Given the description of an element on the screen output the (x, y) to click on. 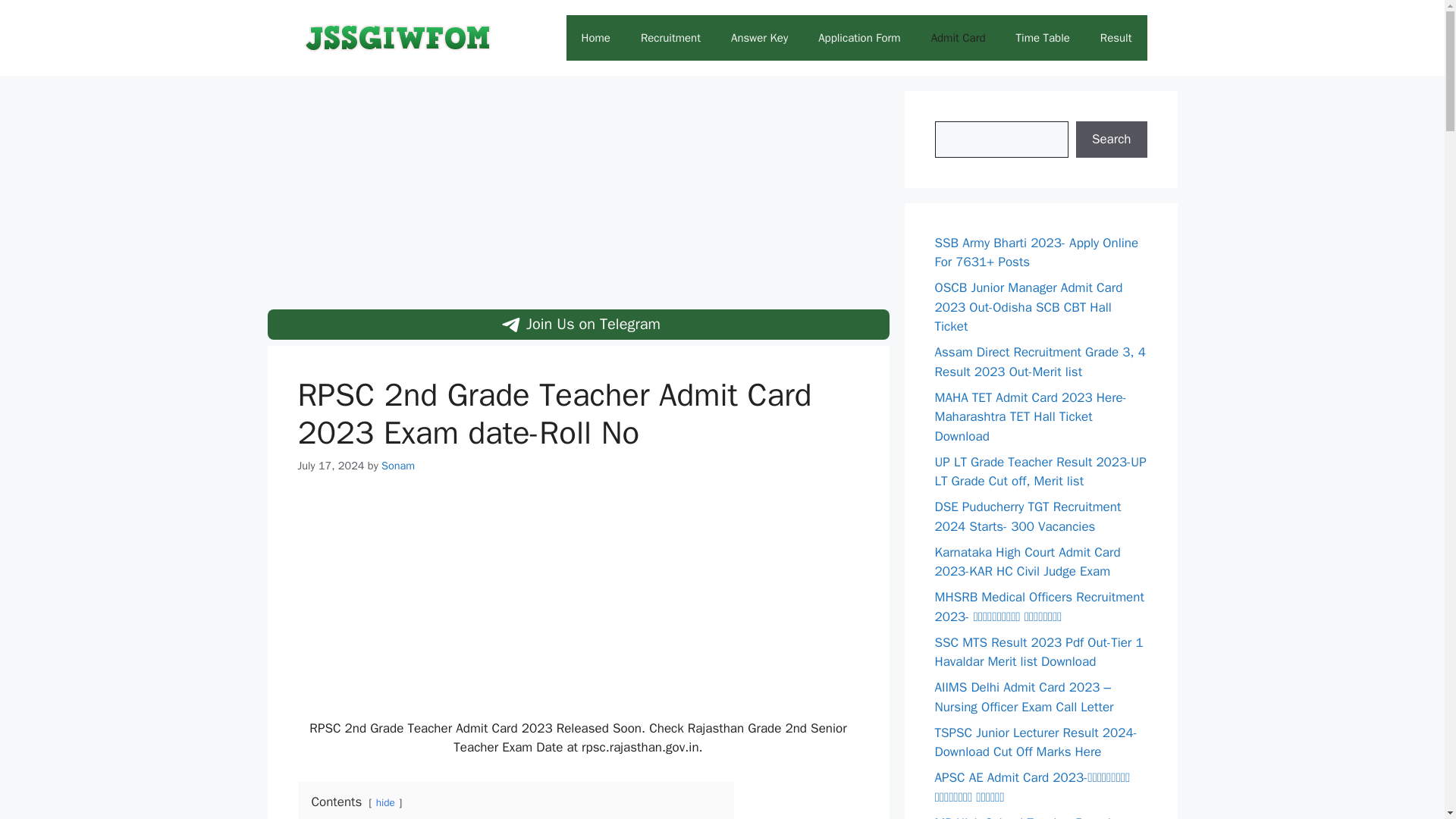
Answer Key (759, 37)
Result (1115, 37)
Application Form (859, 37)
Home (596, 37)
hide (384, 802)
Admit Card (958, 37)
Advertisement (578, 606)
View all posts by Sonam (397, 465)
Time Table (1042, 37)
Search (1111, 139)
Sonam (397, 465)
Recruitment (671, 37)
Join Us on Telegram (577, 324)
